Given the description of an element on the screen output the (x, y) to click on. 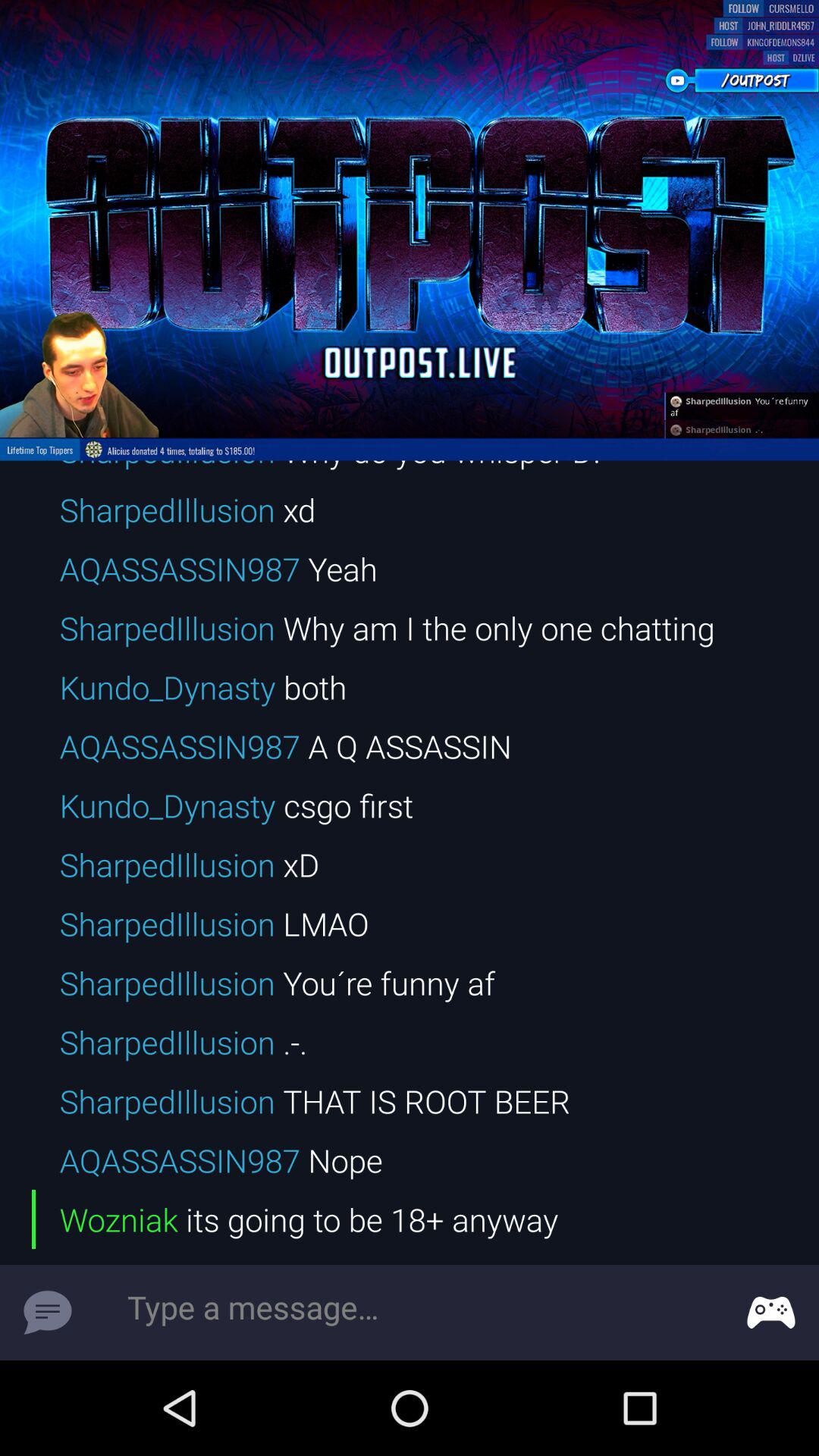
send button (47, 1312)
